Given the description of an element on the screen output the (x, y) to click on. 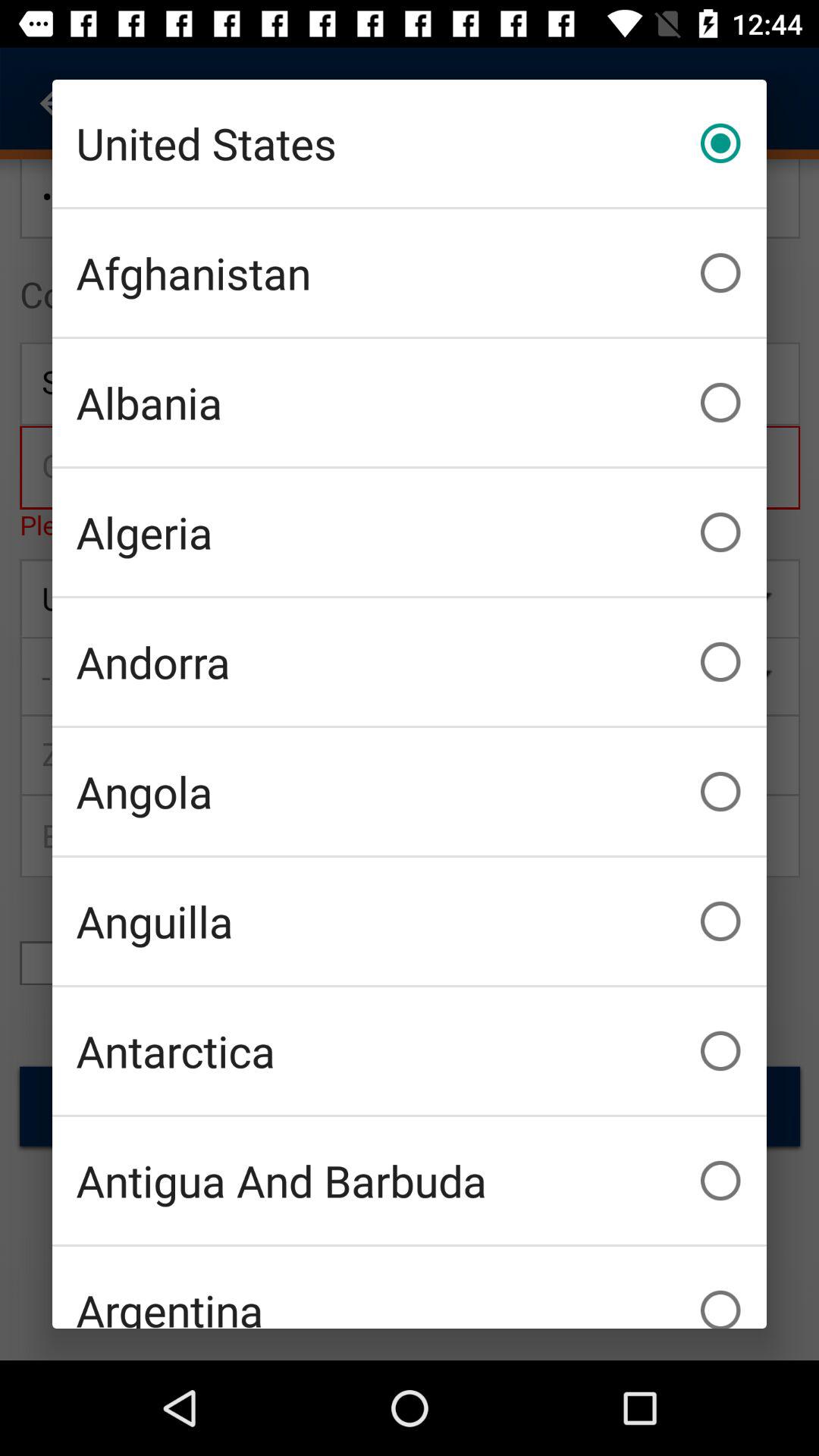
tap the icon above antarctica (409, 921)
